Given the description of an element on the screen output the (x, y) to click on. 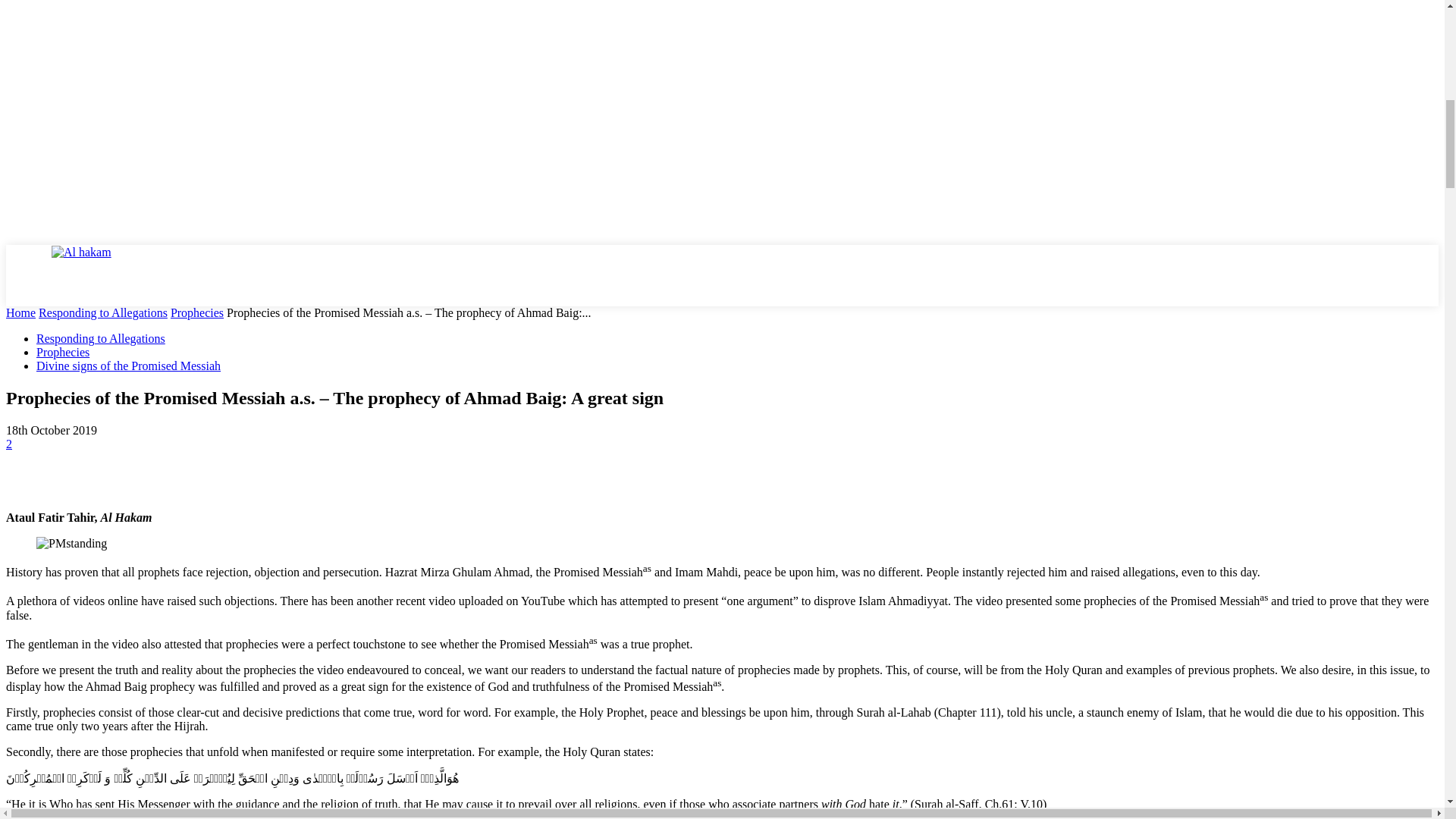
View all posts in Responding to Allegations (103, 312)
View all posts in Prophecies (197, 312)
Alhakam (107, 273)
